Given the description of an element on the screen output the (x, y) to click on. 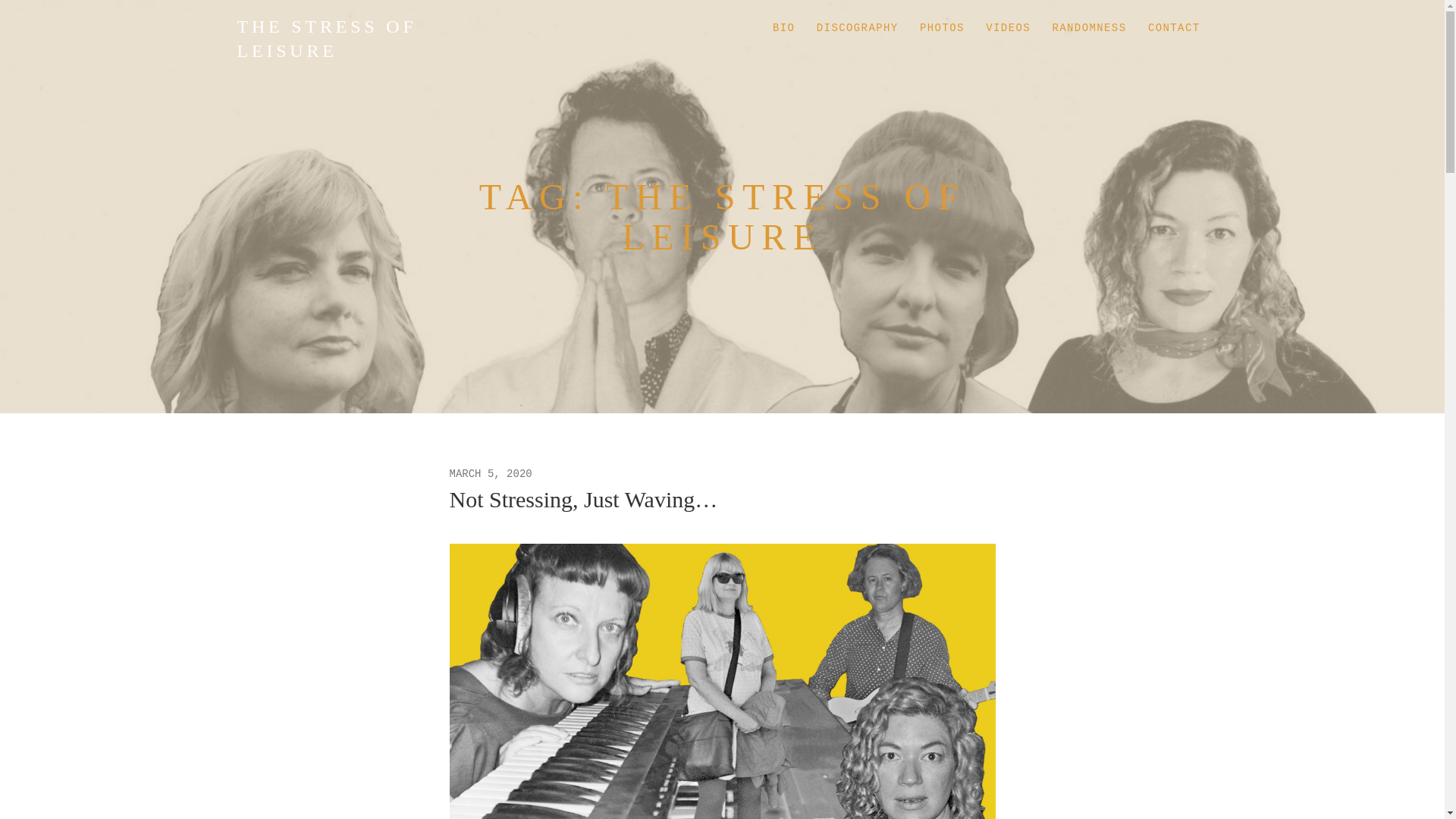
CONTACT (1174, 28)
PHOTOS (942, 28)
BIO (783, 28)
MARCH 5, 2020 (489, 473)
RANDOMNESS (1088, 28)
THE STRESS OF LEISURE (325, 38)
VIDEOS (1008, 28)
DISCOGRAPHY (857, 28)
